Given the description of an element on the screen output the (x, y) to click on. 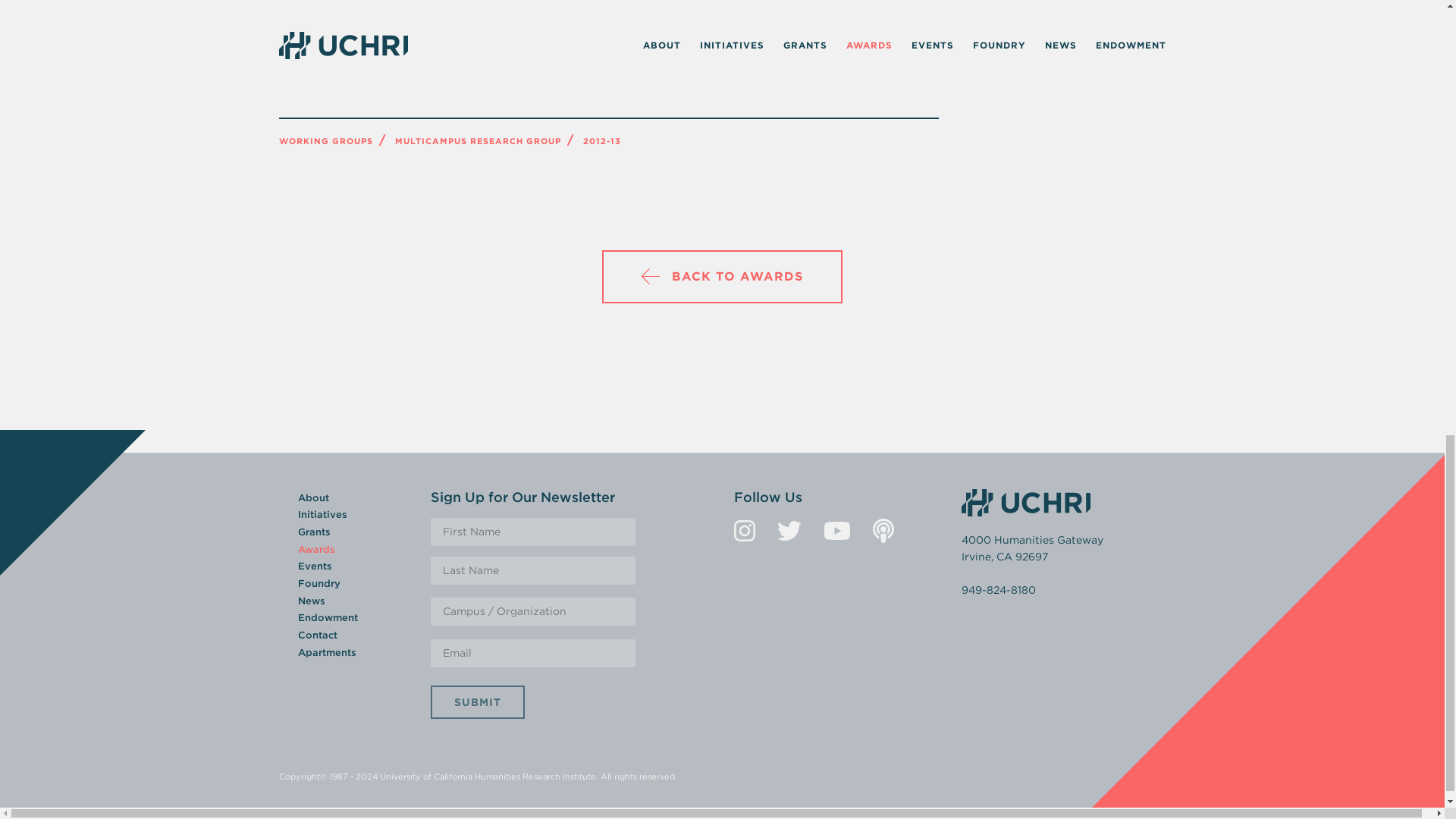
Endowment (326, 617)
News (310, 600)
Foundry (318, 583)
SUBMIT (477, 702)
Awards (315, 549)
WORKING GROUPS (325, 140)
Grants (313, 531)
Contact (316, 634)
Initiatives (321, 514)
Events (314, 565)
BACK TO AWARDS (722, 276)
MULTICAMPUS RESEARCH GROUP (477, 140)
Apartments (326, 652)
About (313, 497)
2012-13 (601, 140)
